Given the description of an element on the screen output the (x, y) to click on. 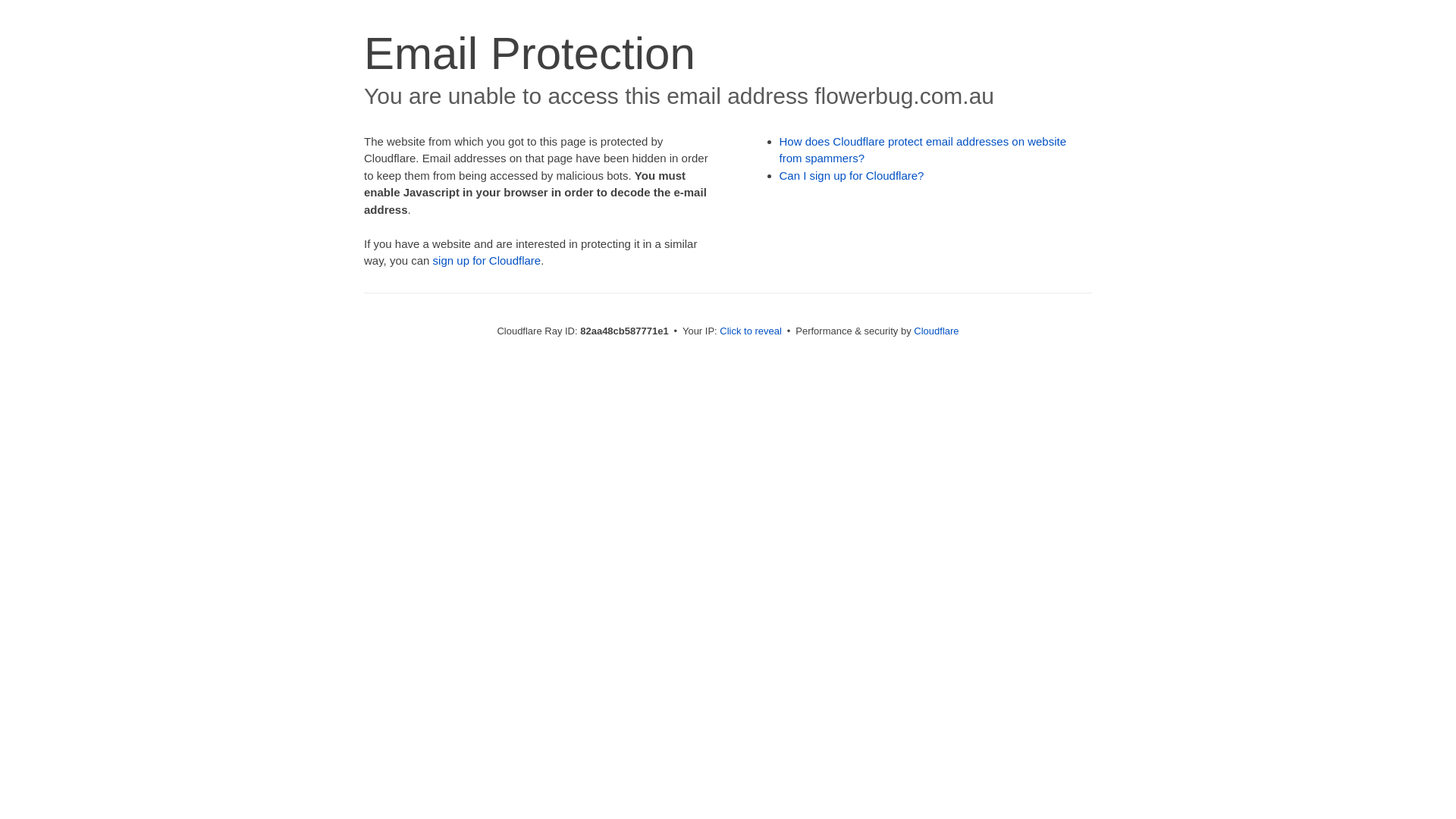
Cloudflare Element type: text (935, 330)
Click to reveal Element type: text (750, 330)
sign up for Cloudflare Element type: text (487, 260)
Can I sign up for Cloudflare? Element type: text (851, 175)
